Given the description of an element on the screen output the (x, y) to click on. 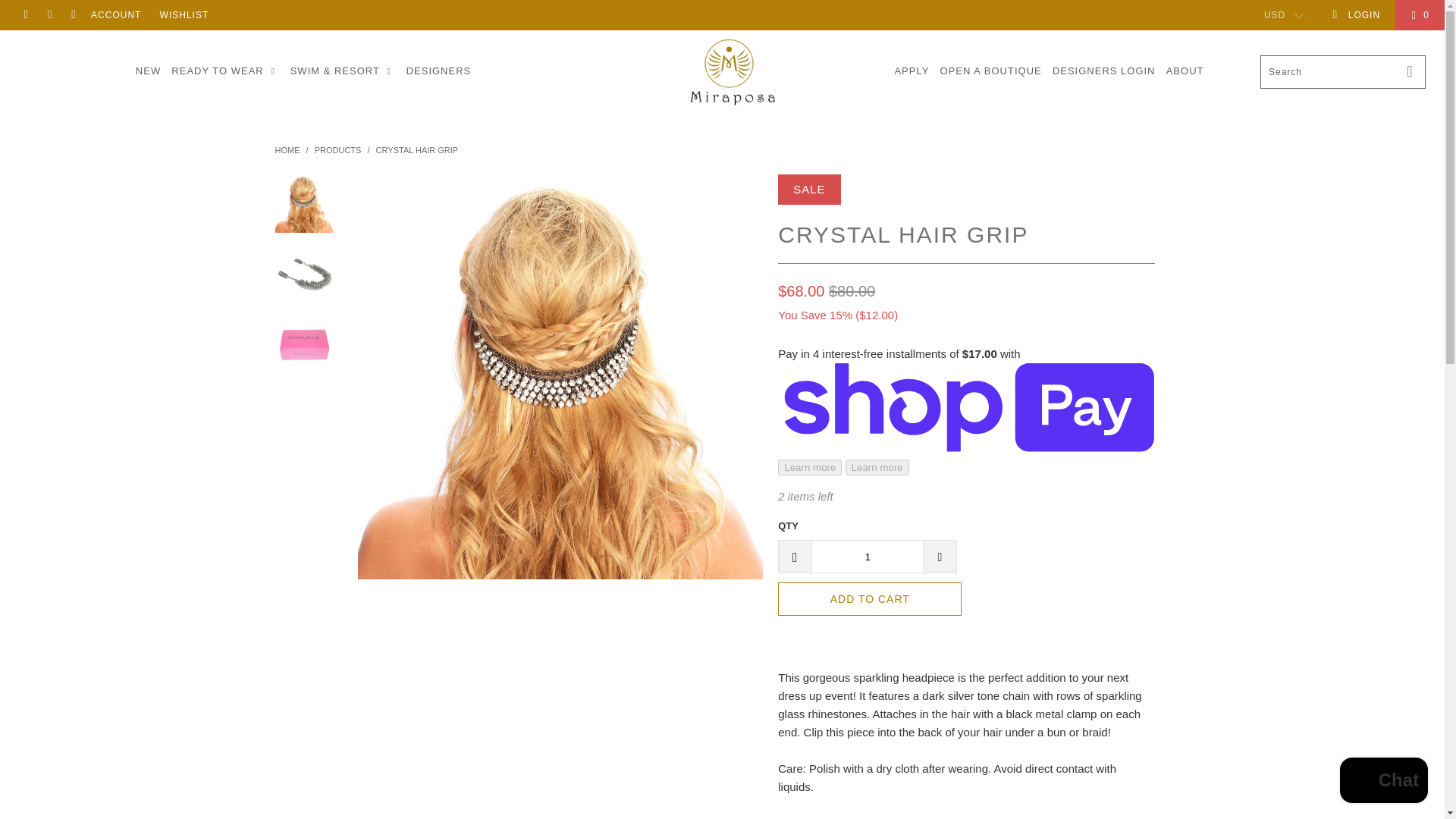
1 (866, 556)
